Given the description of an element on the screen output the (x, y) to click on. 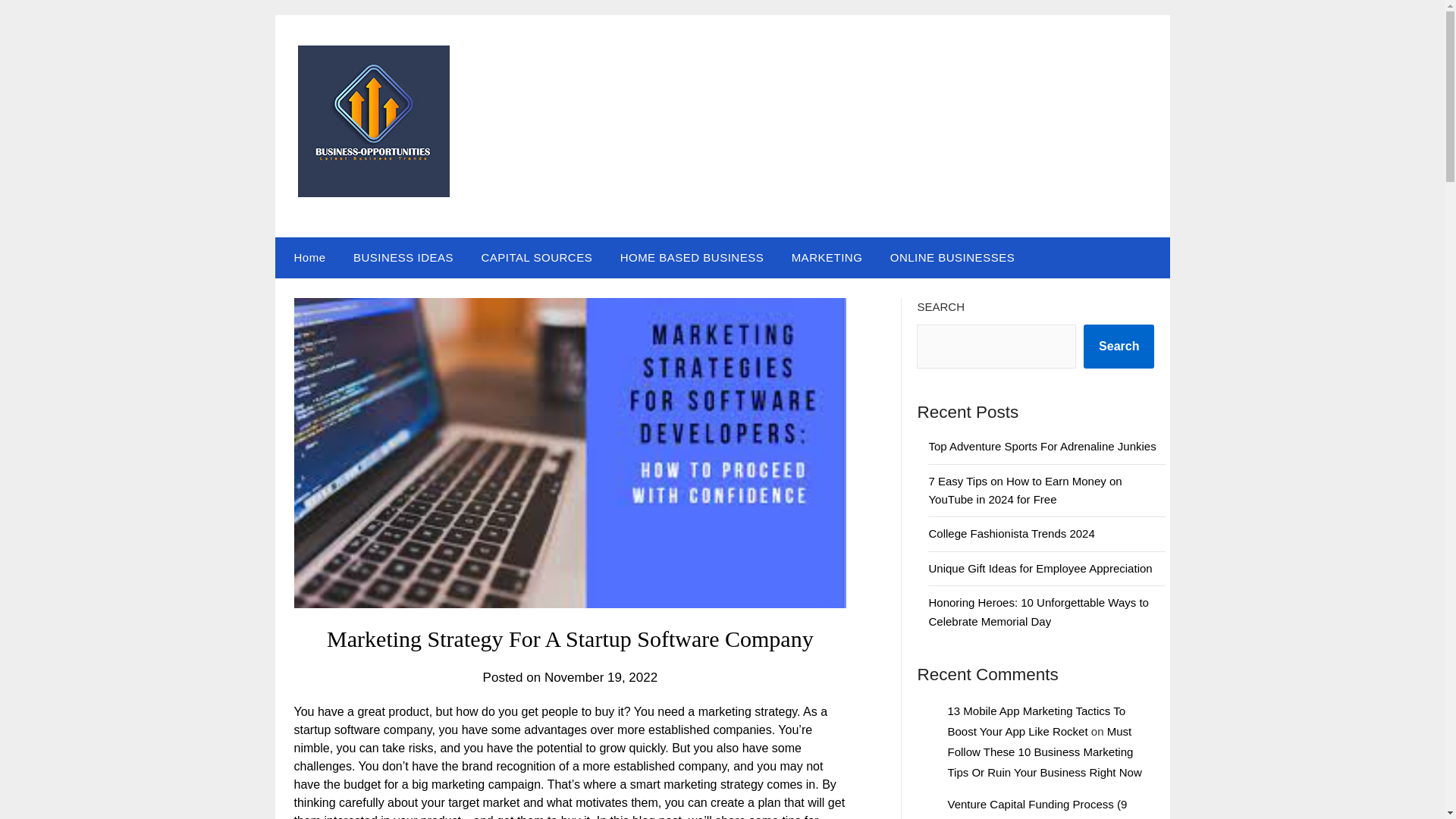
HOME BASED BUSINESS (692, 257)
Unique Gift Ideas for Employee Appreciation (1039, 567)
Top Adventure Sports For Adrenaline Junkies (1042, 445)
7 Easy Tips on How to Earn Money on YouTube in 2024 for Free (1024, 490)
CAPITAL SOURCES (536, 257)
Home (306, 257)
ONLINE BUSINESSES (951, 257)
Search (1118, 346)
BUSINESS IDEAS (402, 257)
College Fashionista Trends 2024 (1011, 533)
MARKETING (826, 257)
